Given the description of an element on the screen output the (x, y) to click on. 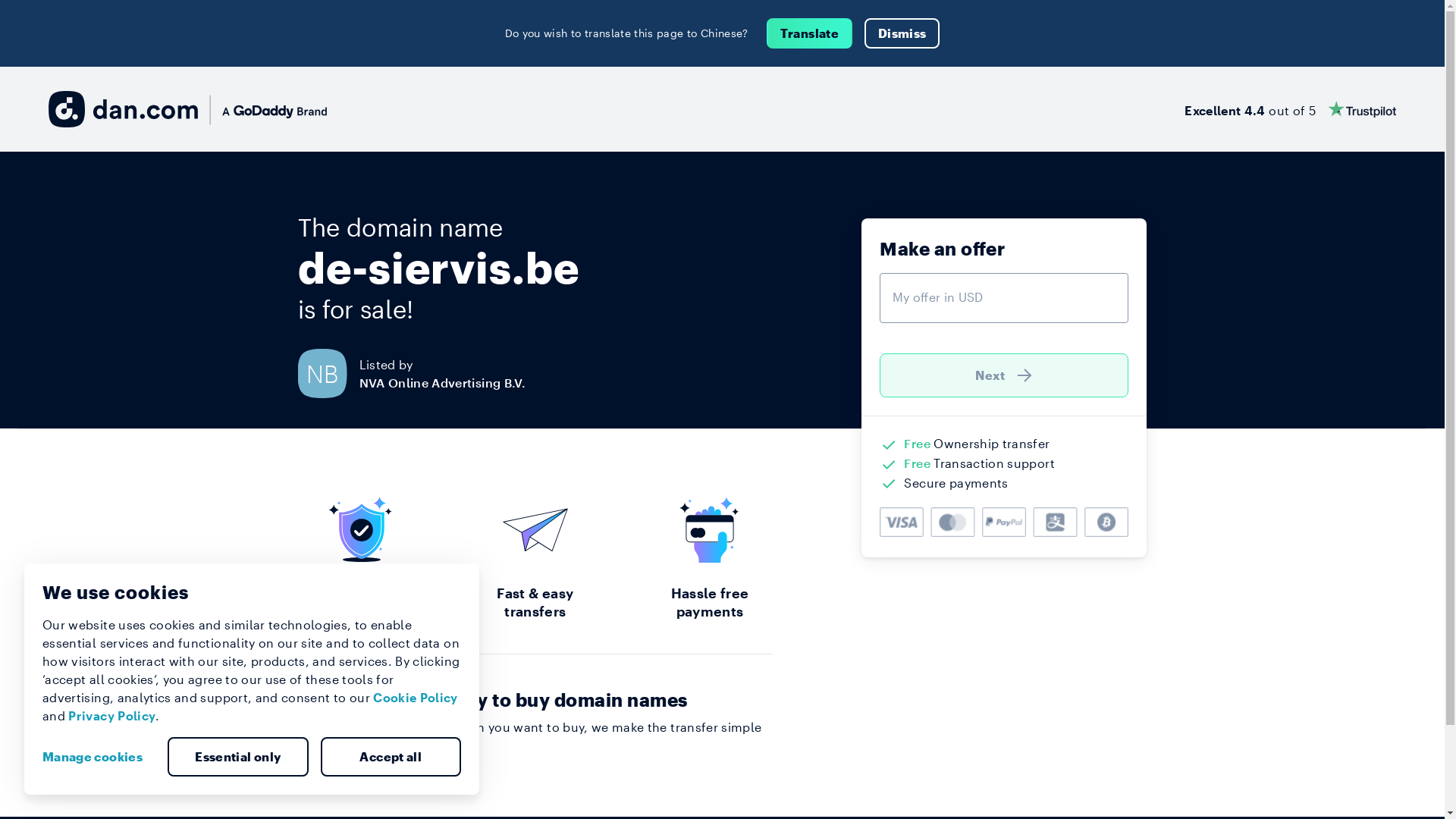
Excellent 4.4 out of 5 Element type: text (1290, 109)
Dismiss Element type: text (901, 33)
Accept all Element type: text (390, 756)
Manage cookies Element type: text (98, 756)
Essential only Element type: text (237, 756)
Cookie Policy Element type: text (415, 697)
Privacy Policy Element type: text (111, 715)
Next
) Element type: text (1003, 375)
Translate Element type: text (809, 33)
